Given the description of an element on the screen output the (x, y) to click on. 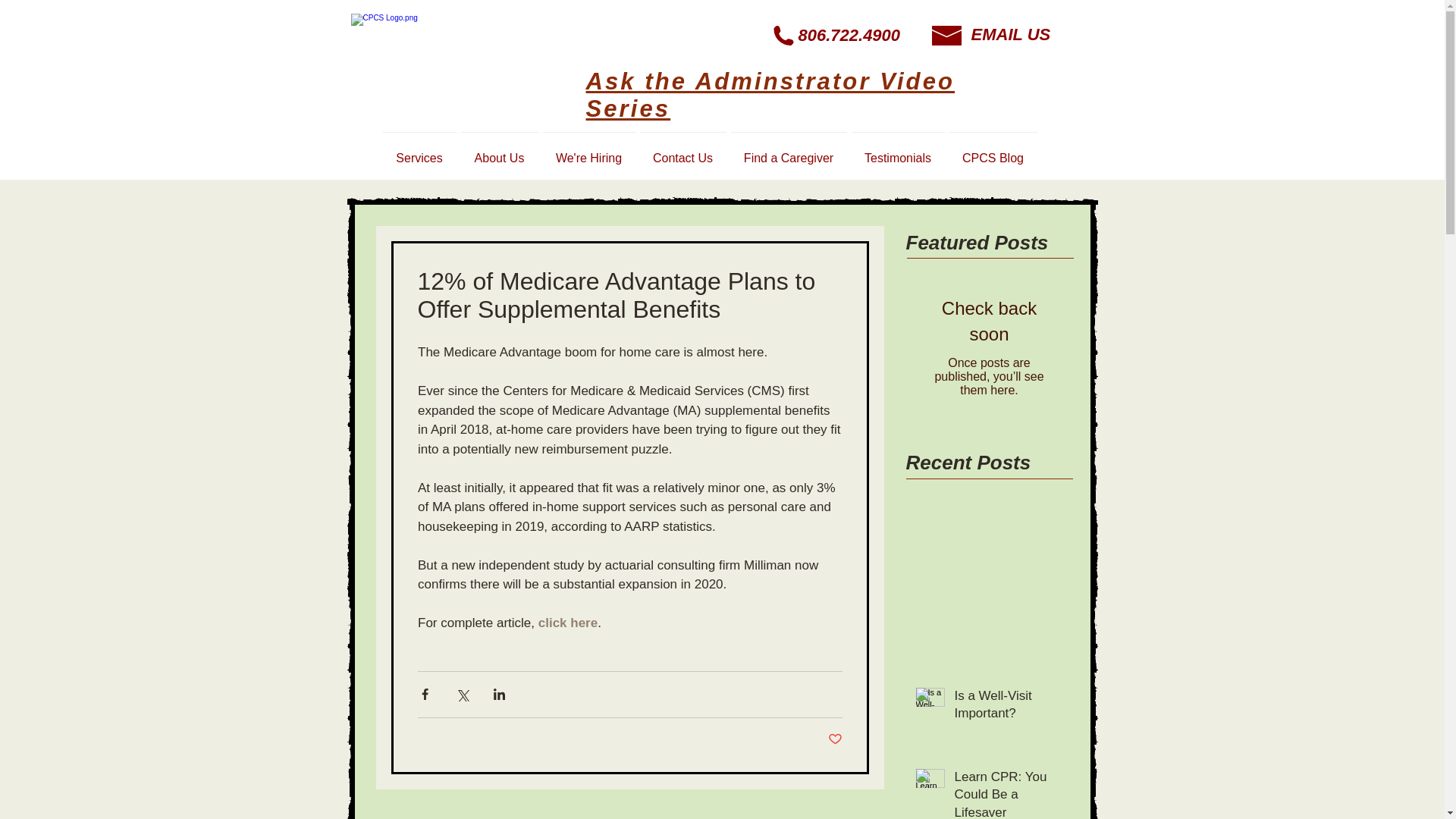
Learn CPR: You Could Be a Lifesaver (1007, 793)
Is a Well-Visit Important? (1007, 708)
Ask the Adminstrator Video Series (770, 94)
CPCS Blog (992, 150)
About Us (499, 150)
EMAIL US (1010, 34)
Testimonials (897, 150)
Post not marked as liked (835, 738)
Find a Caregiver (788, 150)
Contact Us (682, 150)
